Given the description of an element on the screen output the (x, y) to click on. 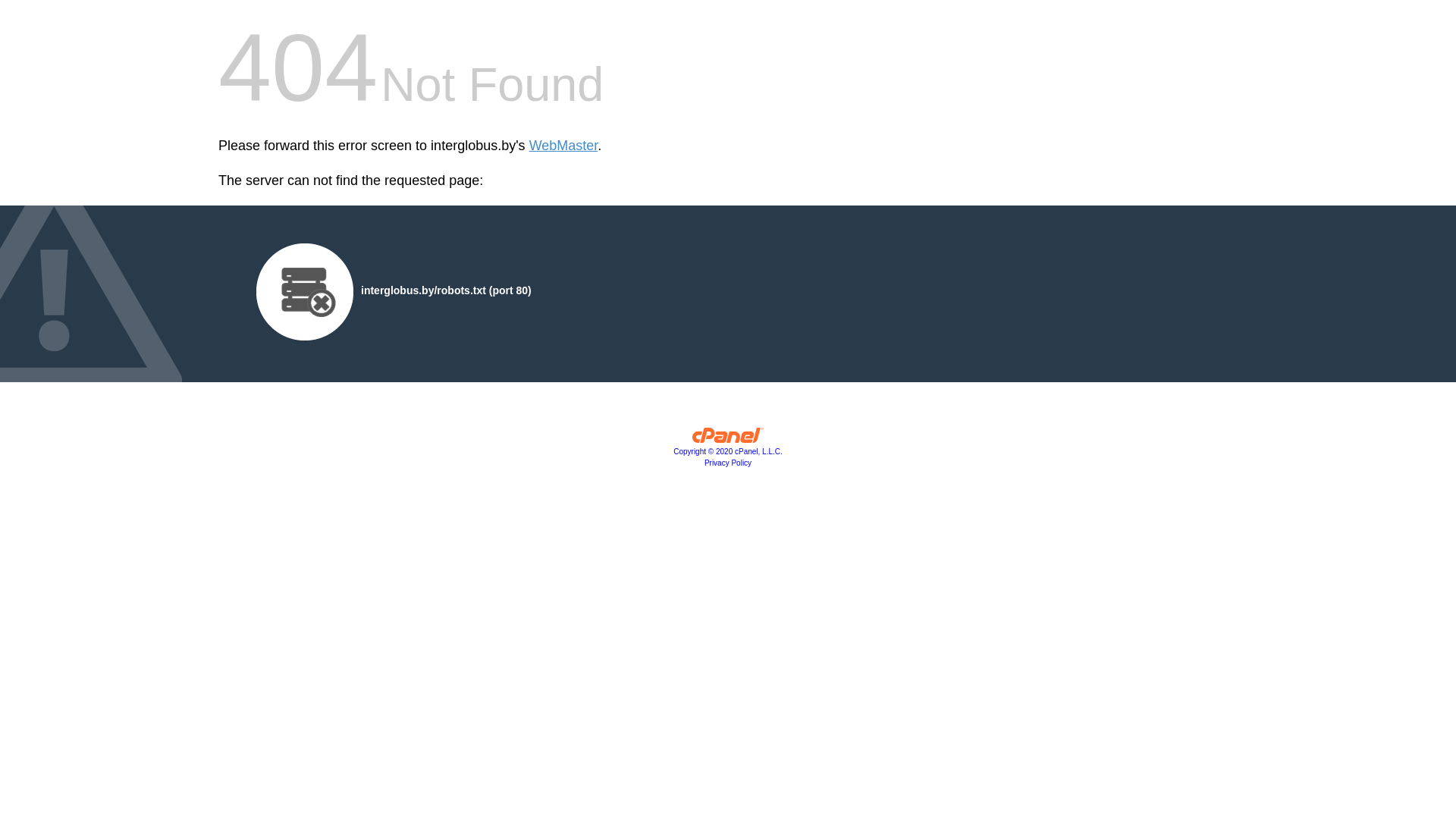
WebMaster Element type: text (563, 145)
Privacy Policy Element type: text (727, 462)
cPanel, Inc. Element type: hover (728, 439)
